Given the description of an element on the screen output the (x, y) to click on. 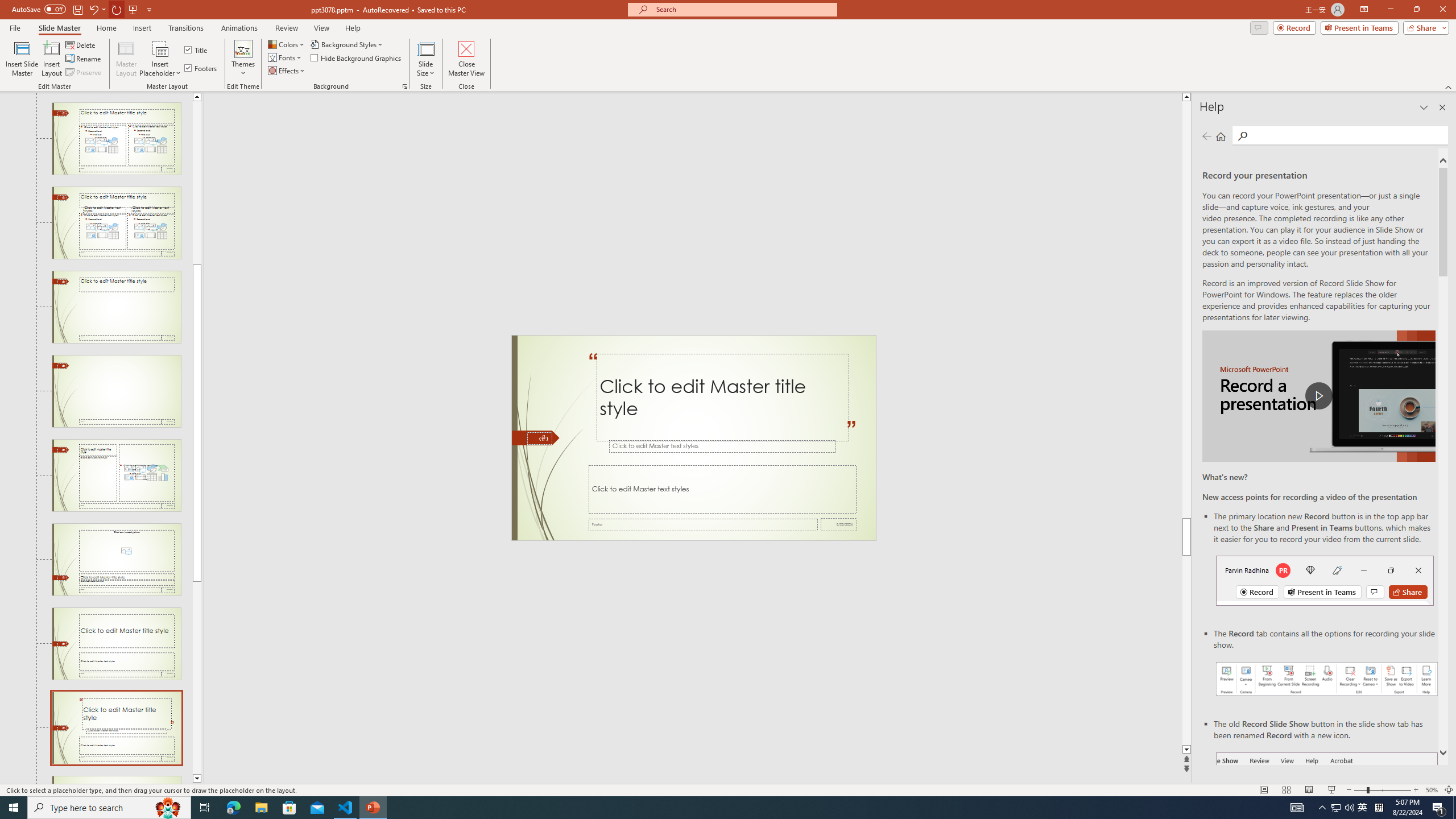
Freeform 11 (535, 437)
Background Styles (347, 44)
Close Master View (466, 58)
Slide Title Only Layout: used by no slides (116, 307)
Slide Picture with Caption Layout: used by no slides (116, 559)
play Record a Presentation (1318, 395)
Slide Title and Caption Layout: used by no slides (116, 643)
Slide Size (425, 58)
